Given the description of an element on the screen output the (x, y) to click on. 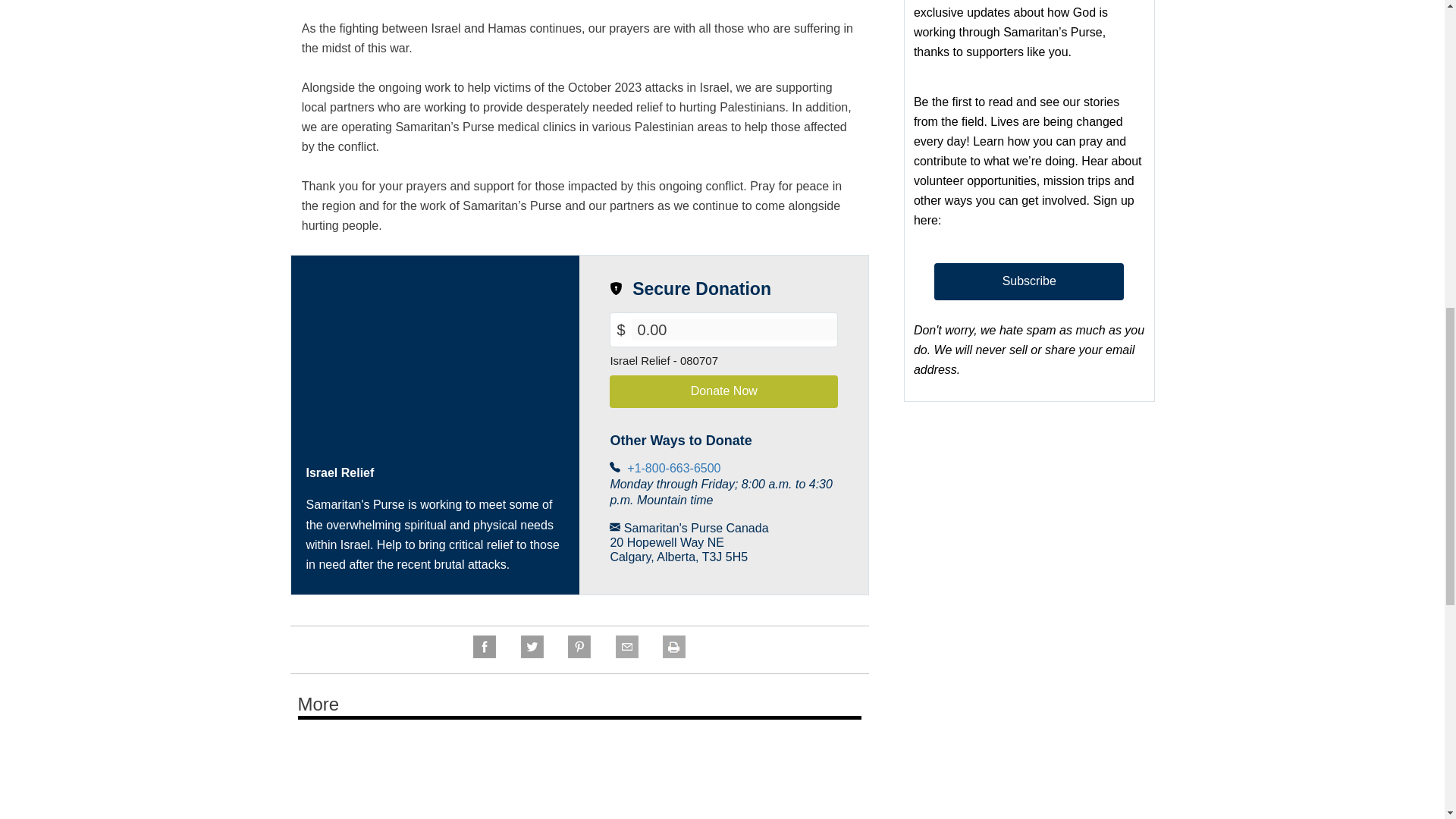
Print Page (674, 653)
0.00 (734, 329)
Share by Email (626, 653)
